Given the description of an element on the screen output the (x, y) to click on. 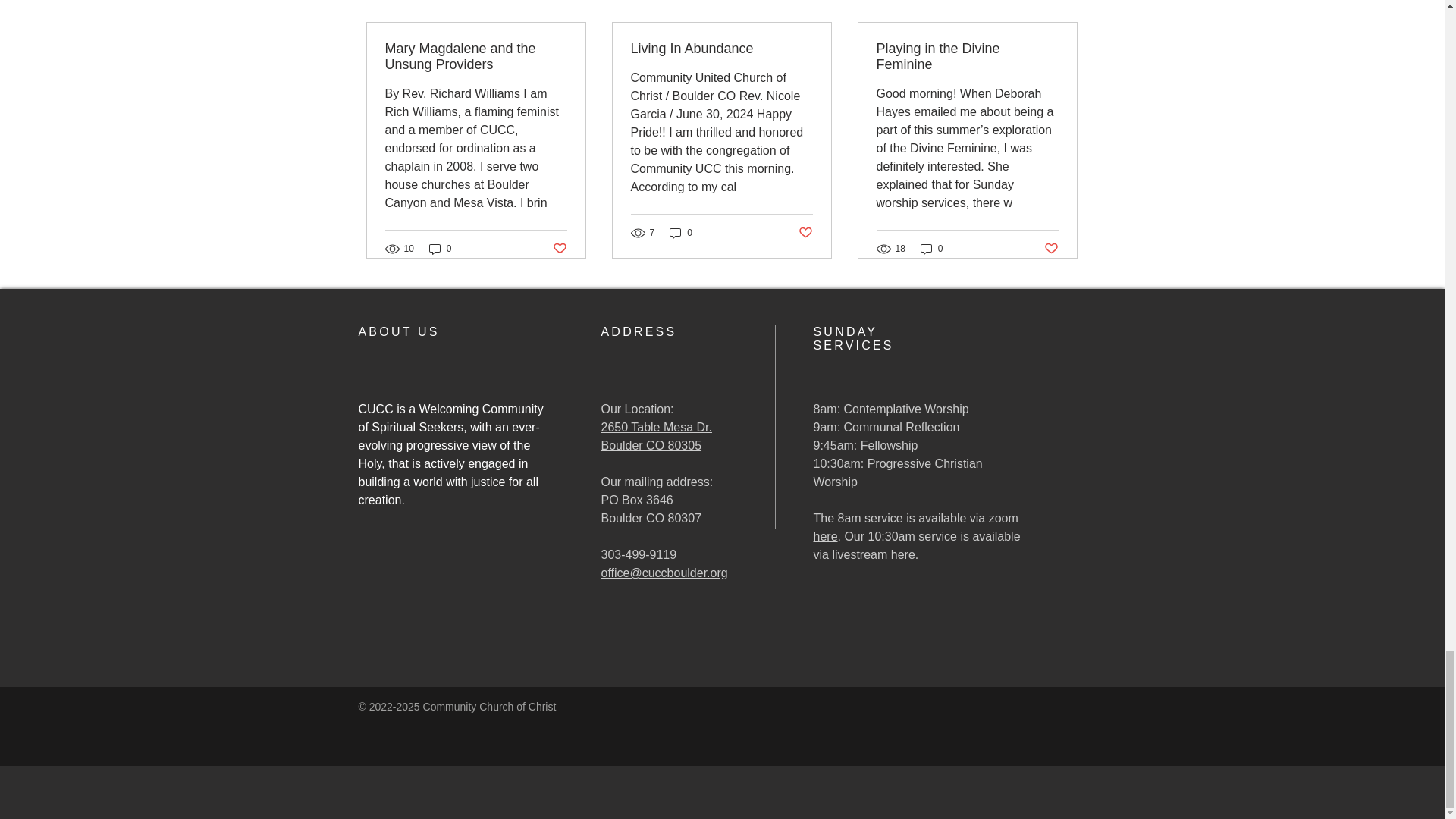
0 (440, 247)
Post not marked as liked (558, 248)
See All (1061, 3)
Mary Magdalene and the Unsung Providers (476, 56)
